Given the description of an element on the screen output the (x, y) to click on. 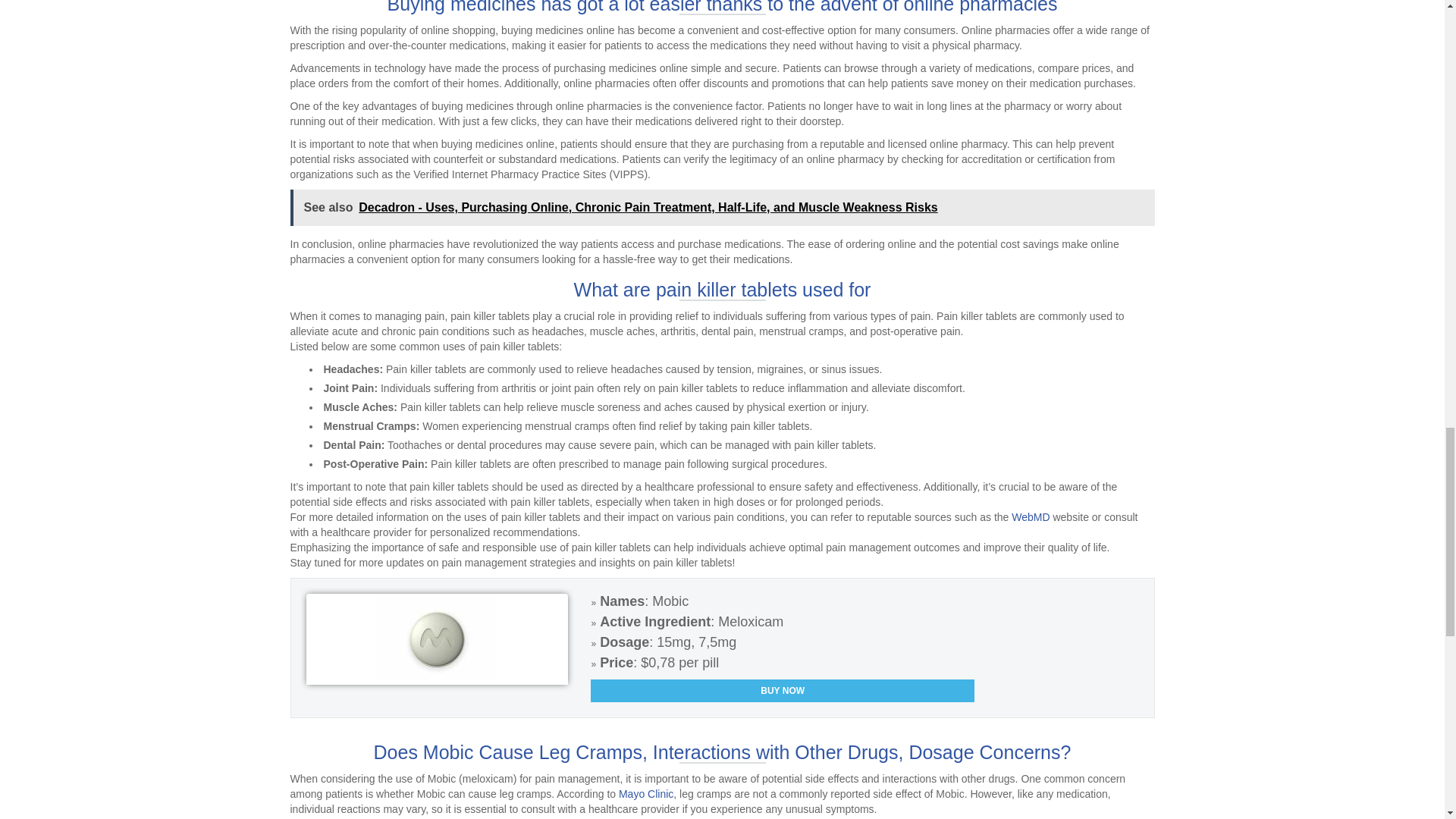
BUY NOW (782, 690)
WebMD (1030, 517)
Mayo Clinic (645, 793)
Buy Now (782, 690)
